Given the description of an element on the screen output the (x, y) to click on. 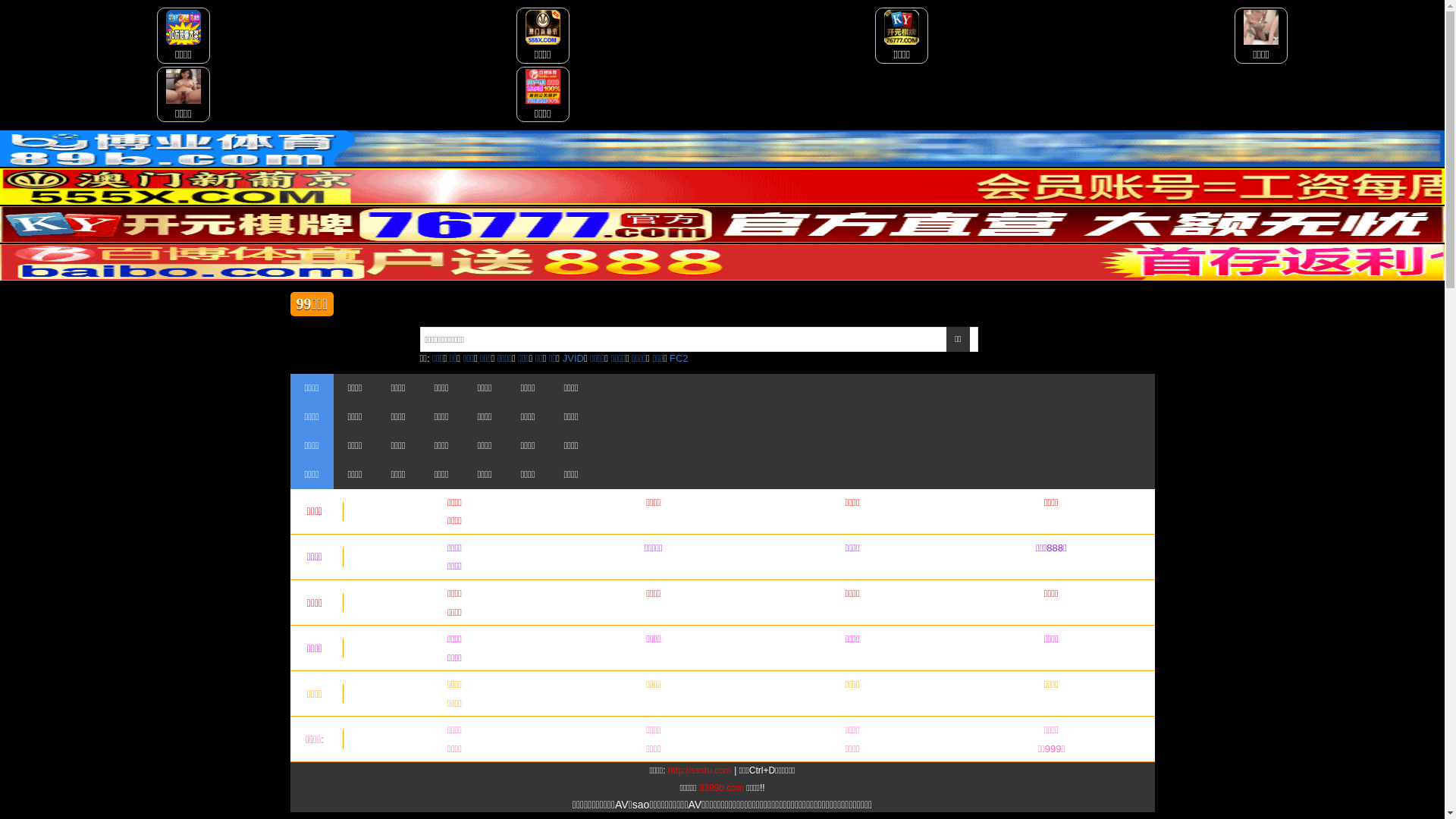
FC2 Element type: text (678, 358)
JVID Element type: text (572, 358)
